Given the description of an element on the screen output the (x, y) to click on. 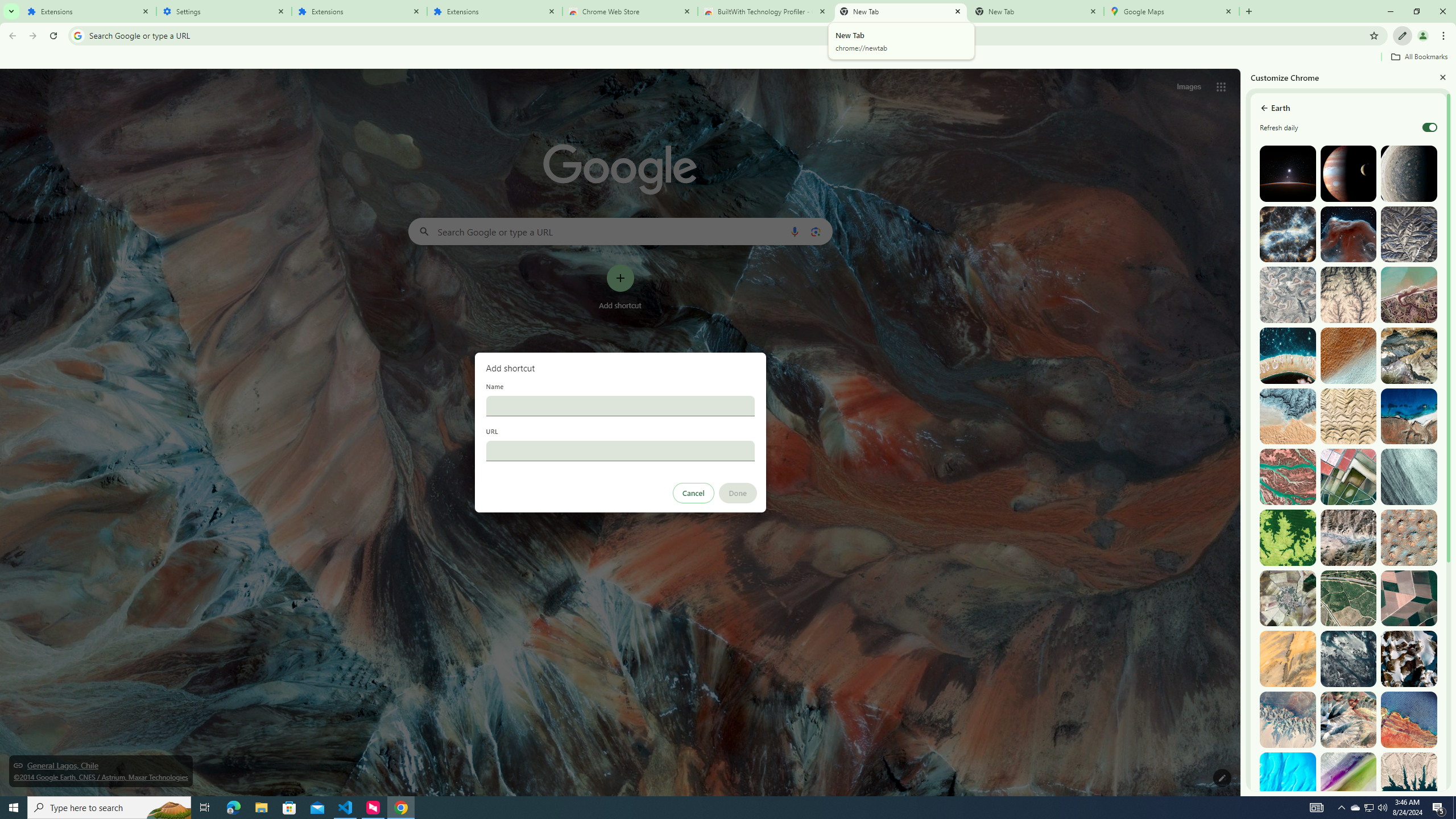
Sanaag, Somalia (1348, 294)
Al Jabal al Akhdar, Libya (1408, 416)
Refresh daily (1429, 126)
Extensions (494, 11)
Utrera, Spain (1408, 598)
Aigues-Mortes, France (1348, 476)
Side Panel Resize Handle (1242, 431)
Ouargla, Algeria (1408, 537)
Chrome Web Store (630, 11)
Antarctica (1408, 658)
Zermatt, Wallis, Switzerland (1408, 355)
